Given the description of an element on the screen output the (x, y) to click on. 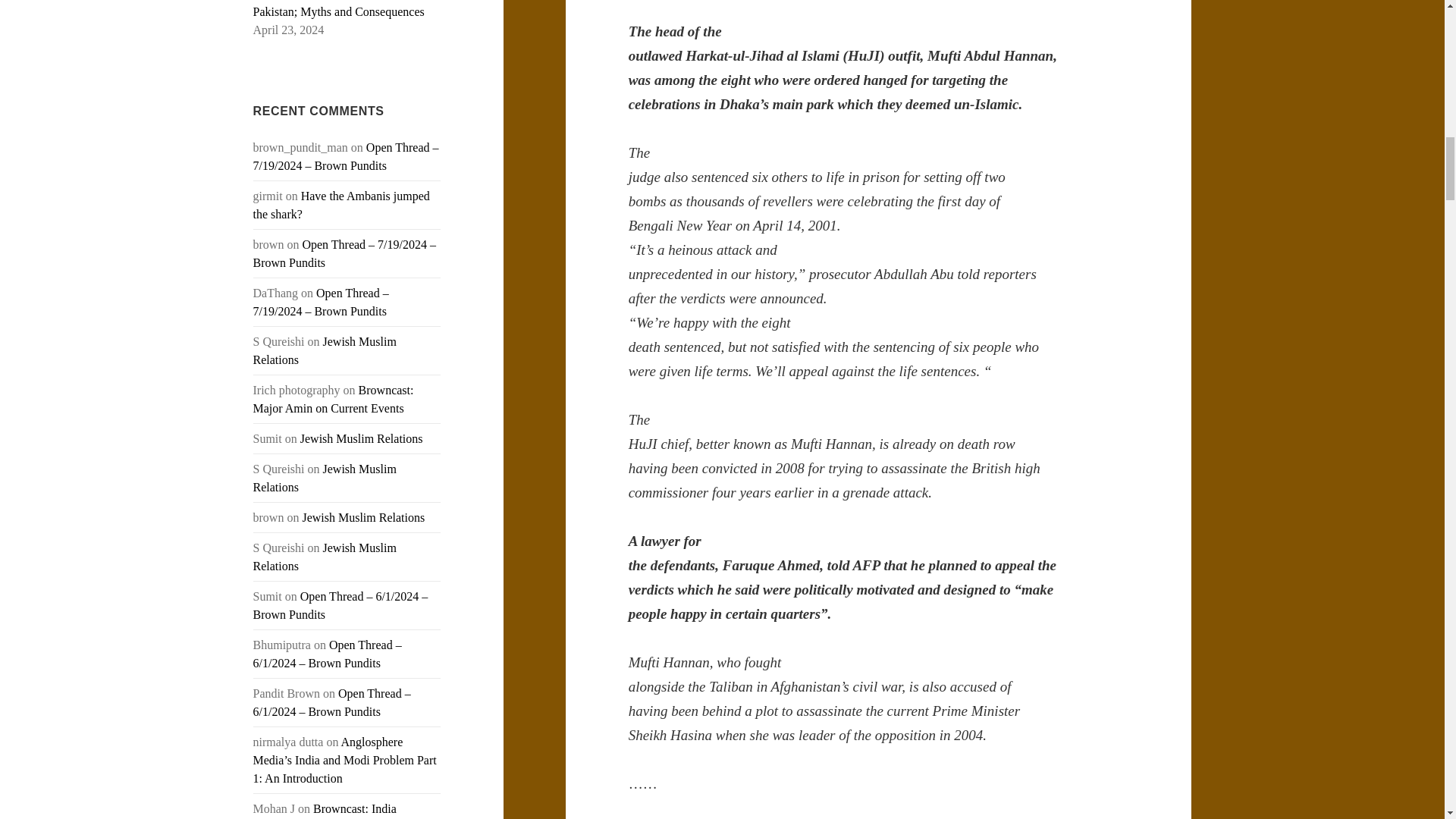
Jewish Muslim Relations (324, 350)
Have the Ambanis jumped the shark? (341, 204)
Jewish Muslim Relations (324, 556)
Pakistan; Myths and Consequences (339, 11)
Browncast: Major Amin on Current Events (333, 399)
Jewish Muslim Relations (324, 477)
Jewish Muslim Relations (363, 517)
Jewish Muslim Relations (361, 438)
